Given the description of an element on the screen output the (x, y) to click on. 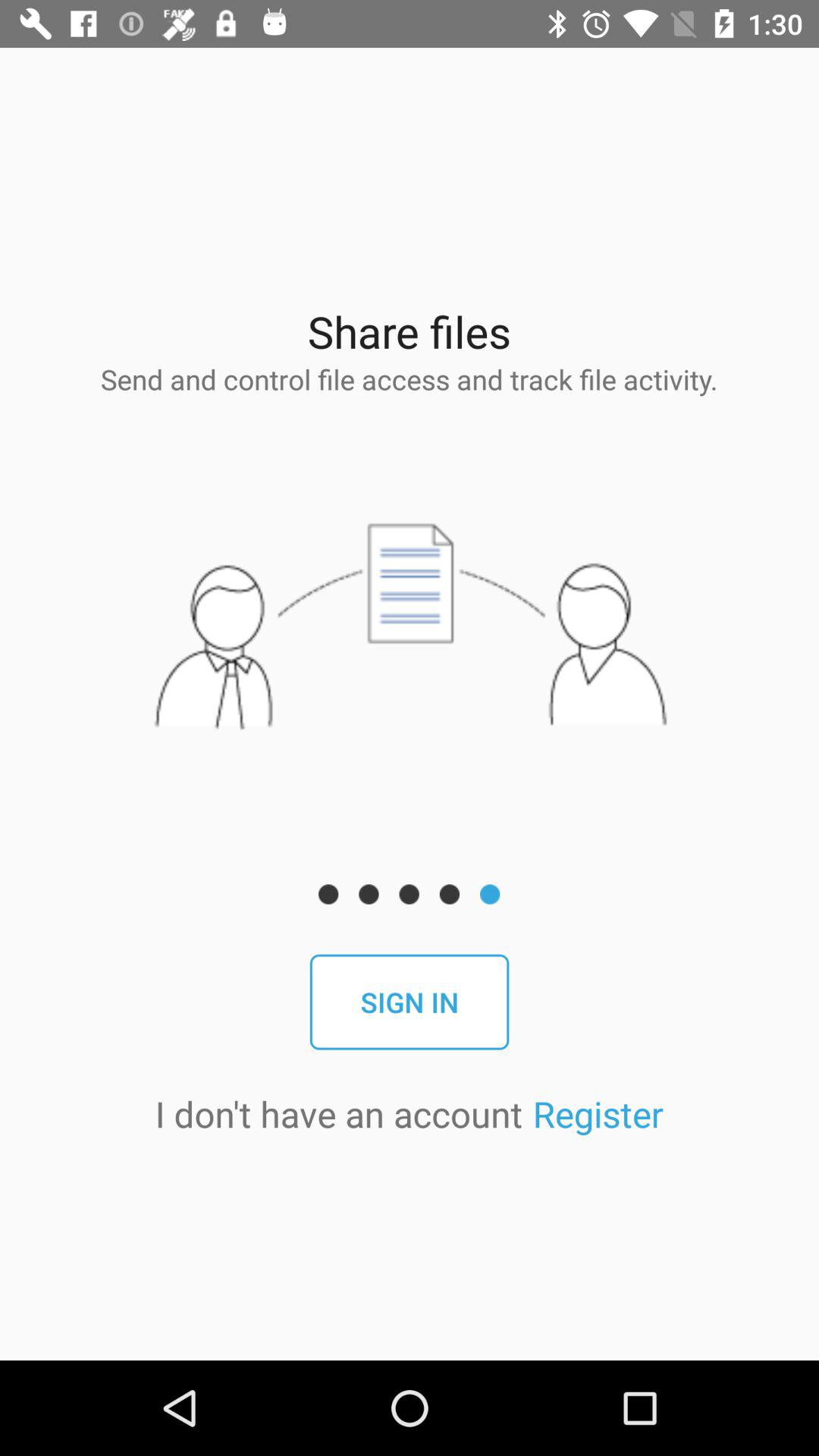
tap the sign in button (409, 1001)
